Given the description of an element on the screen output the (x, y) to click on. 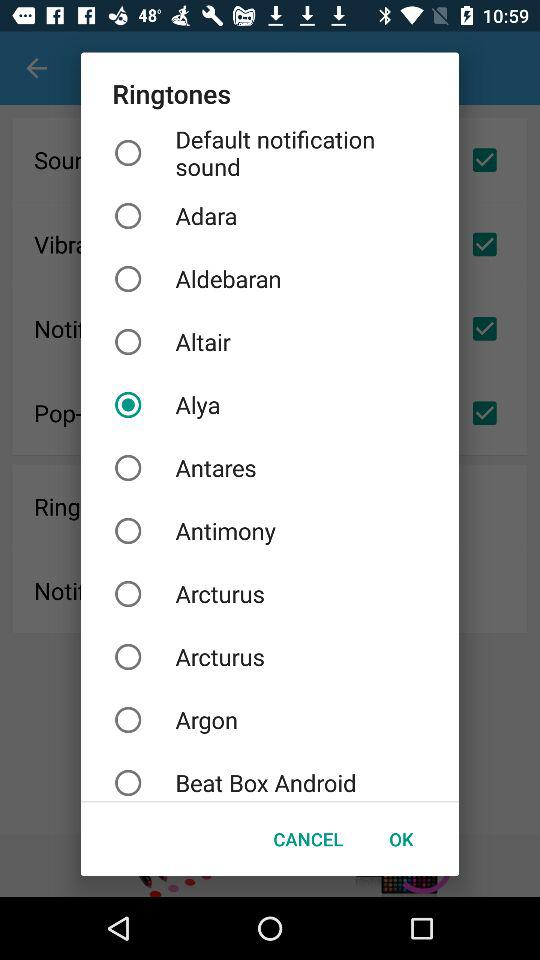
click cancel item (308, 838)
